Given the description of an element on the screen output the (x, y) to click on. 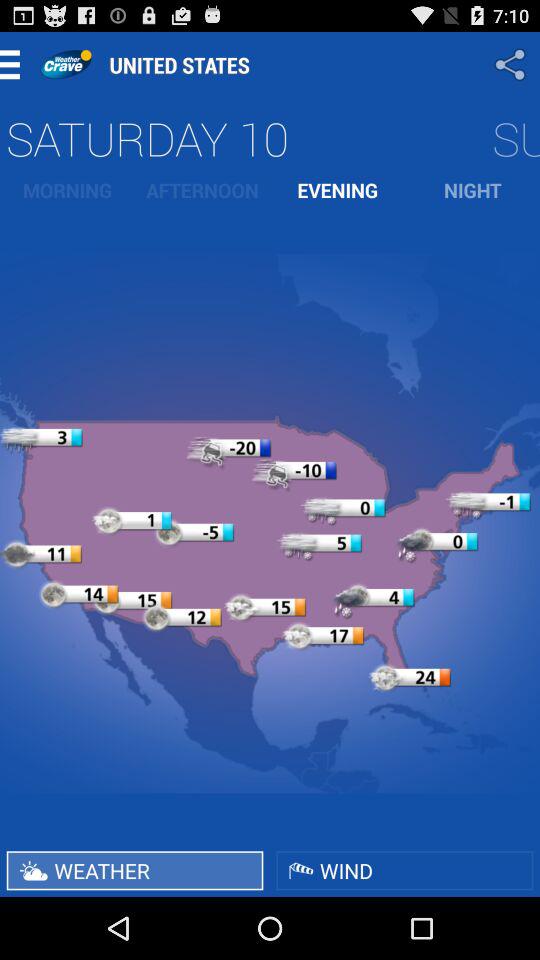
link to share page (512, 64)
